Given the description of an element on the screen output the (x, y) to click on. 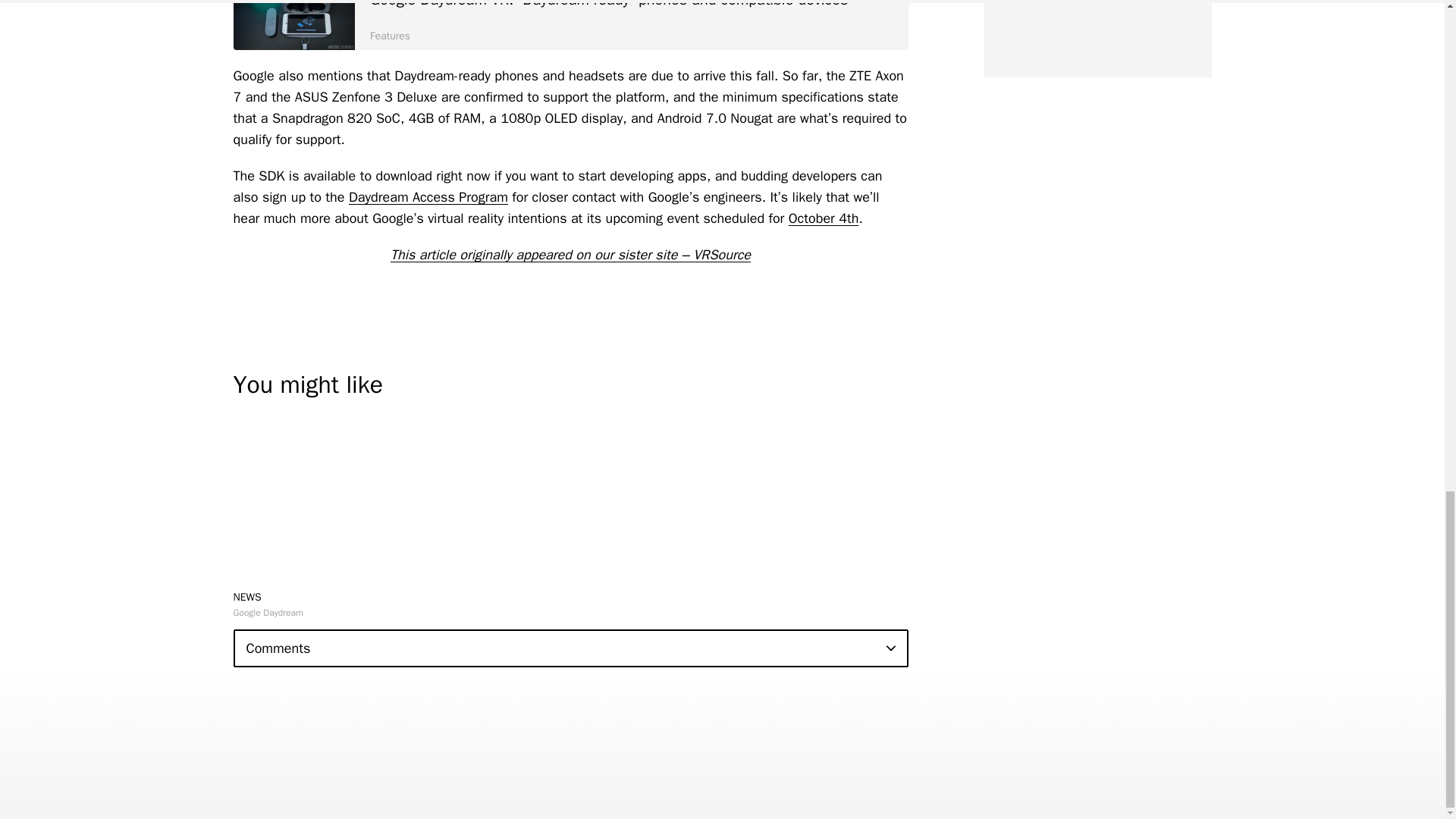
October 4th (824, 217)
Comments (570, 648)
Google Daydream (267, 612)
Daydream Access Program (428, 197)
NEWS (247, 596)
google-daydream-view-aa-5-of-10-setup-featured (293, 24)
